Given the description of an element on the screen output the (x, y) to click on. 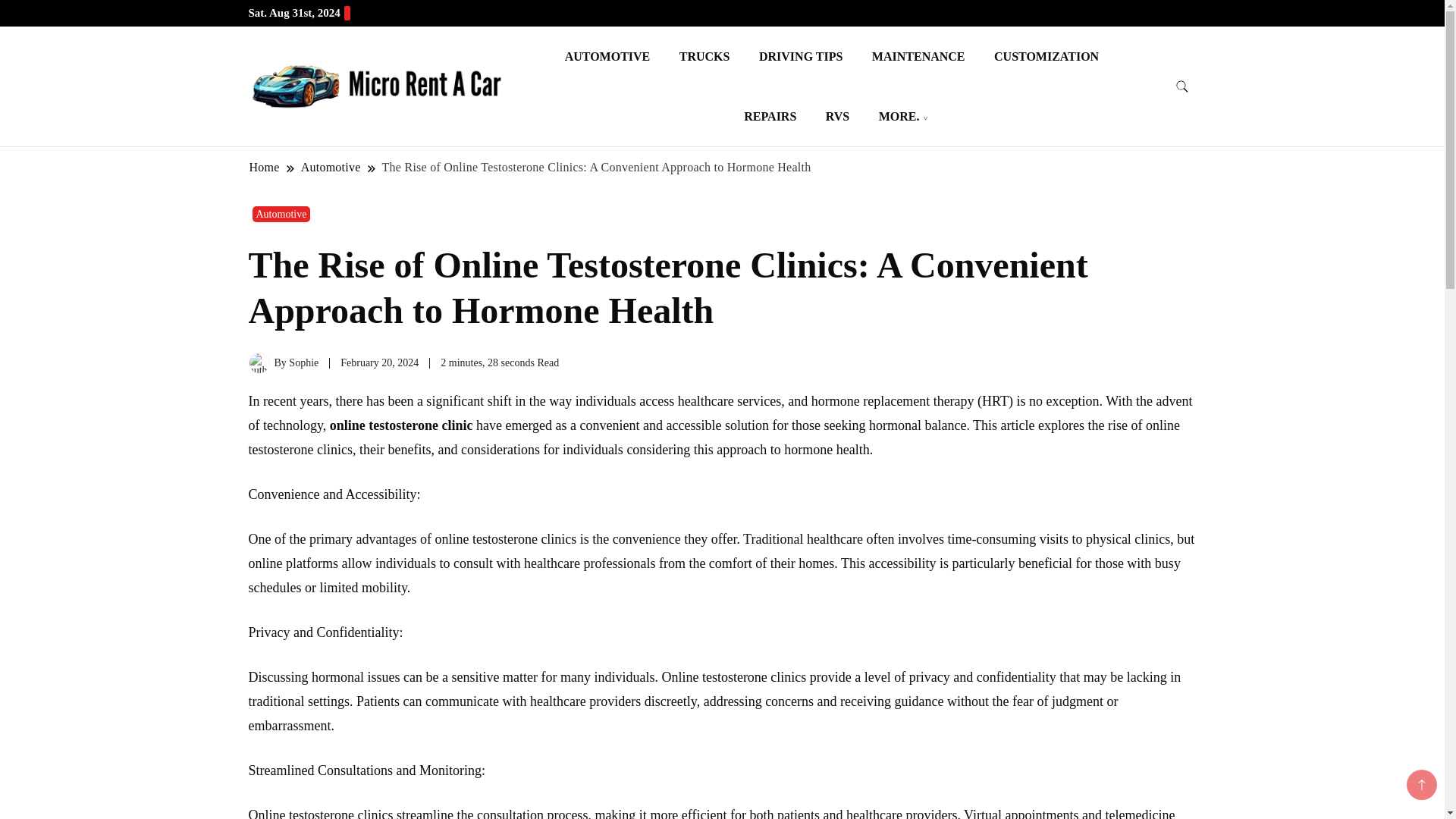
Home (264, 166)
MORE. (899, 116)
CUSTOMIZATION (1046, 56)
AUTOMOTIVE (607, 56)
Automotive (330, 166)
DRIVING TIPS (800, 56)
REPAIRS (769, 116)
Micro Rent A Car (584, 103)
Sophie (303, 362)
MAINTENANCE (918, 56)
